Given the description of an element on the screen output the (x, y) to click on. 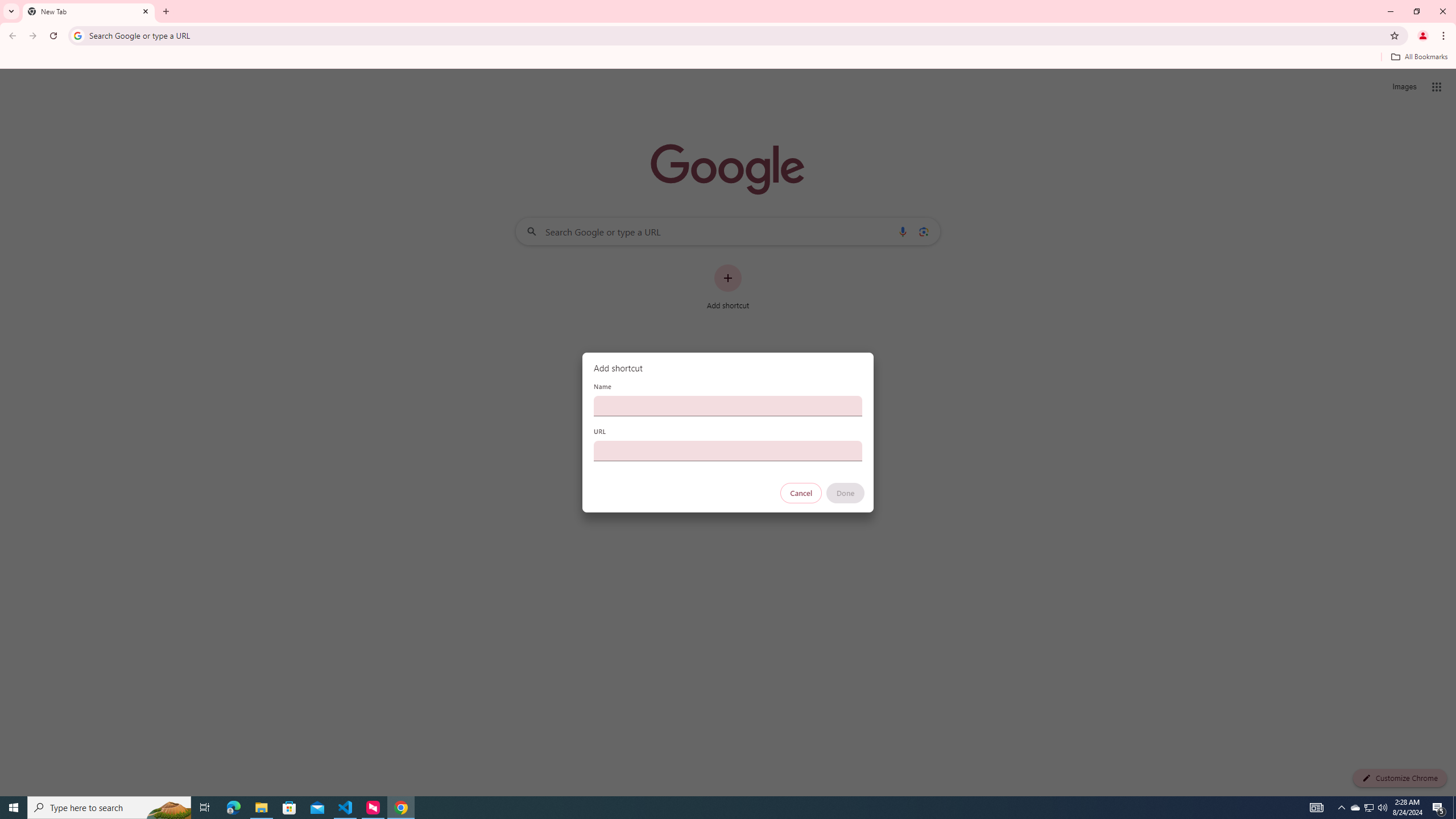
Cancel (801, 493)
New Tab (88, 11)
Bookmarks (728, 58)
Done (845, 493)
Name (727, 405)
